Given the description of an element on the screen output the (x, y) to click on. 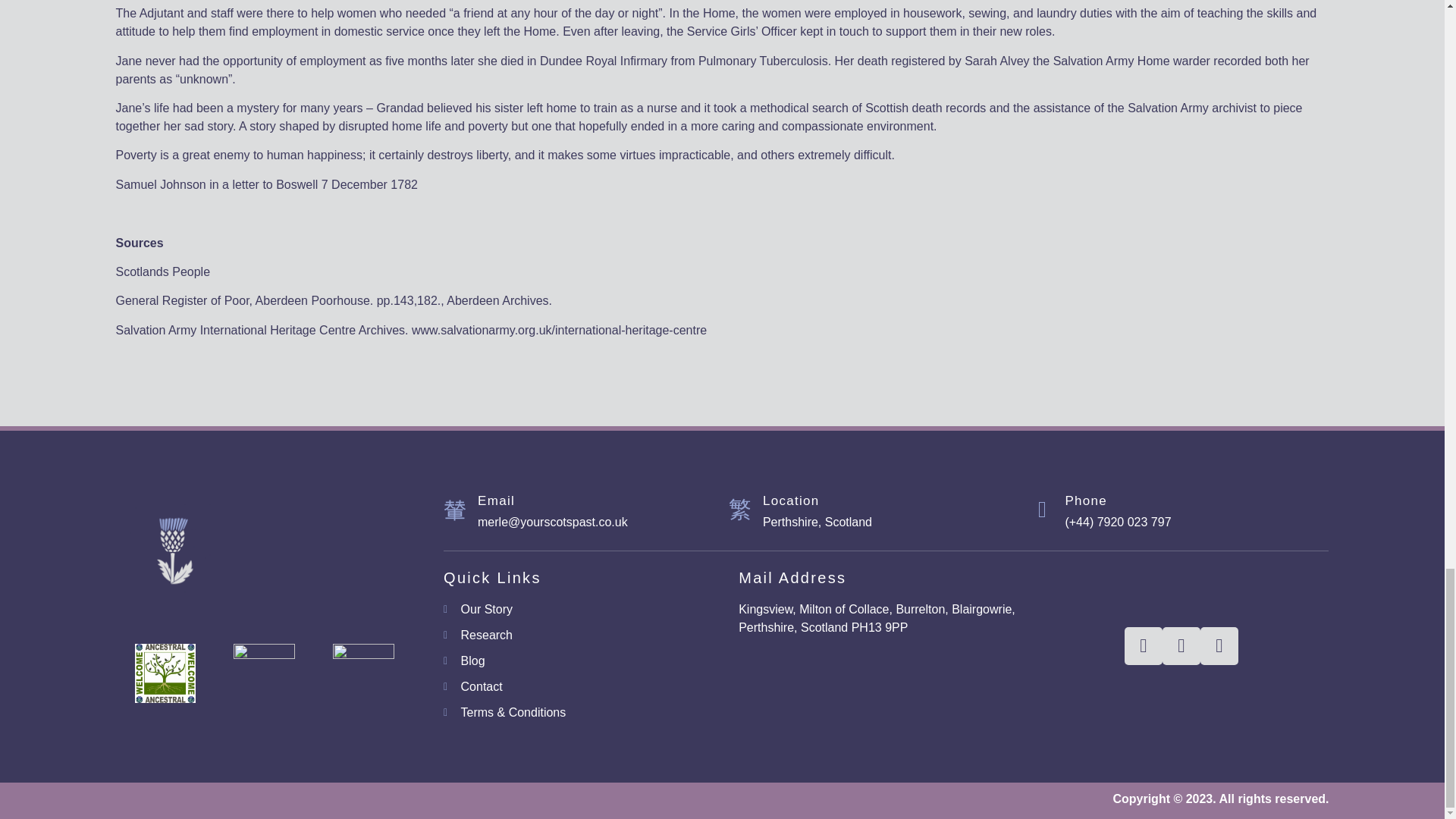
Blog (591, 660)
Our Story (591, 609)
Research (591, 635)
Contact (591, 687)
